Given the description of an element on the screen output the (x, y) to click on. 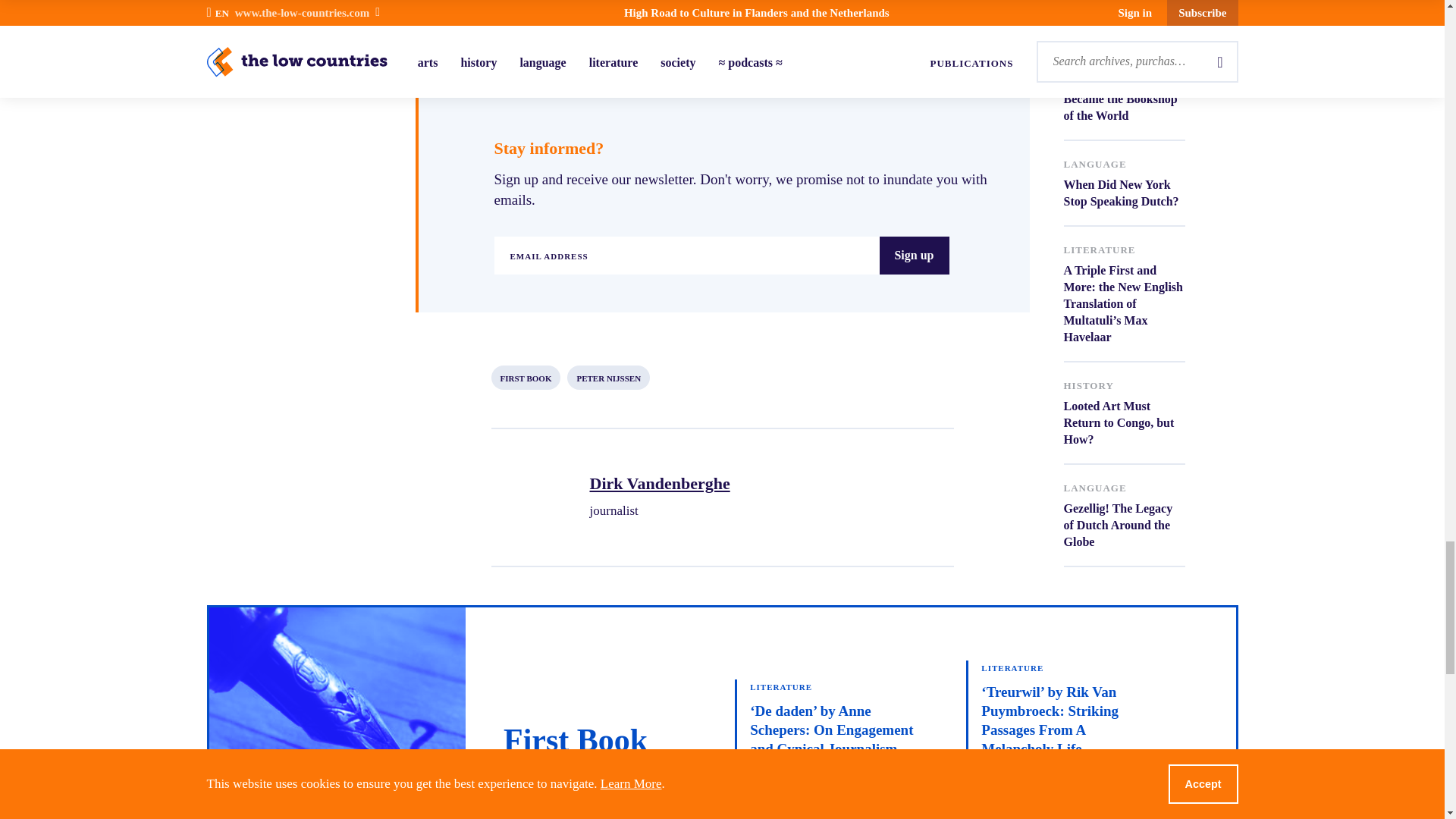
De onvoltooide (623, 28)
Sign up (914, 255)
Sign up (914, 255)
